Given the description of an element on the screen output the (x, y) to click on. 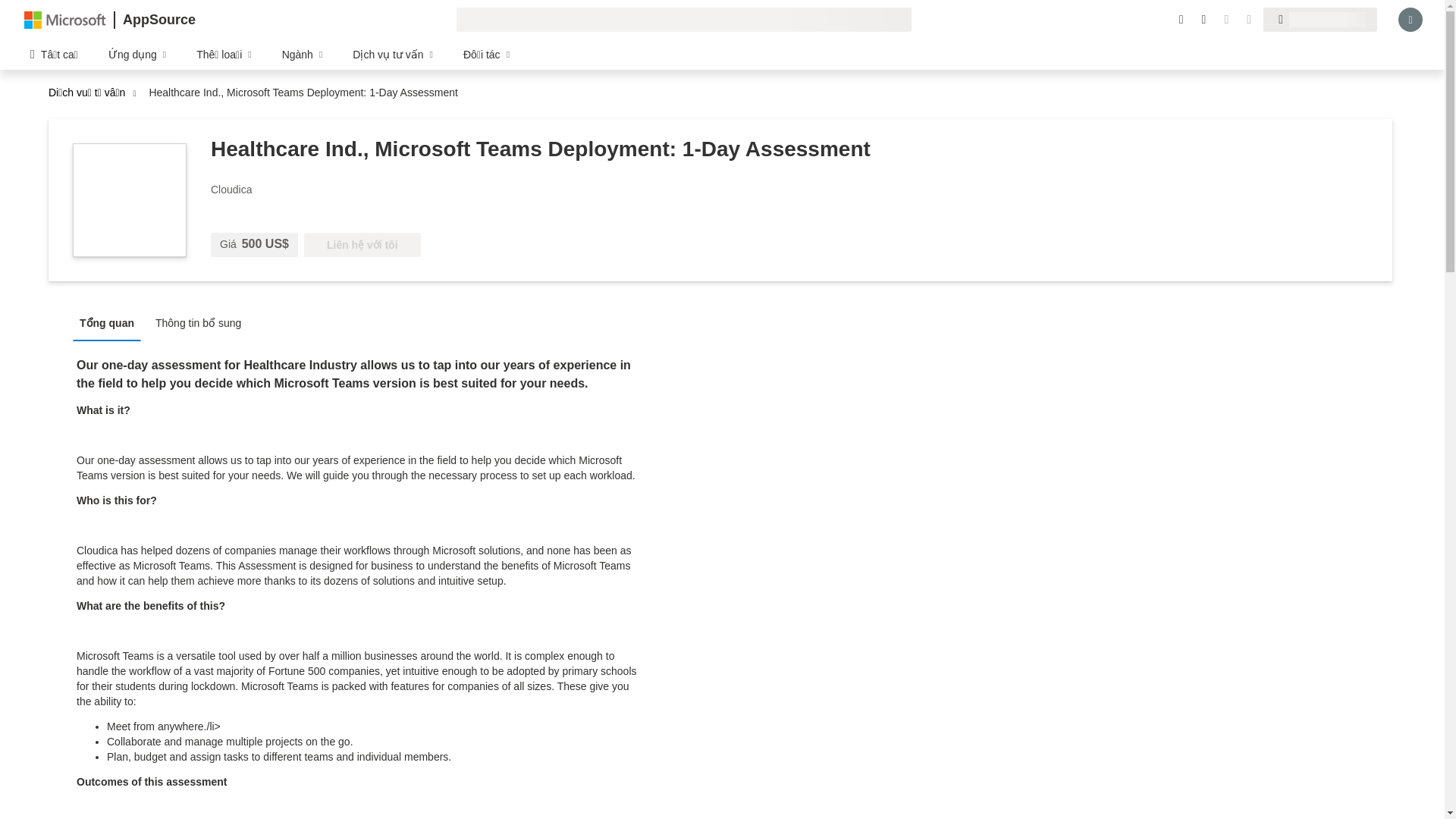
AppSource (158, 19)
Microsoft (65, 18)
